Given the description of an element on the screen output the (x, y) to click on. 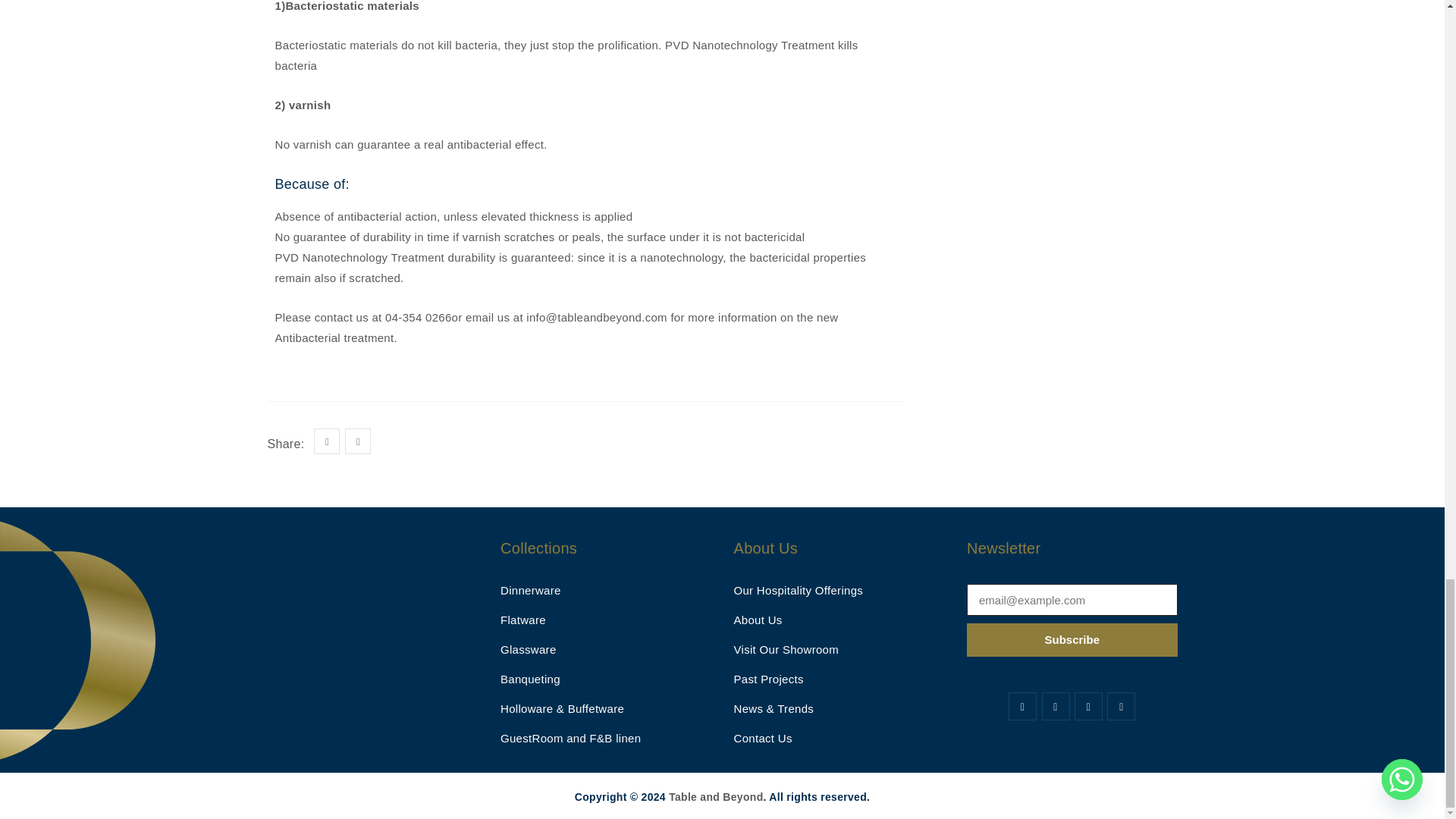
Subscribe (1071, 639)
